Given the description of an element on the screen output the (x, y) to click on. 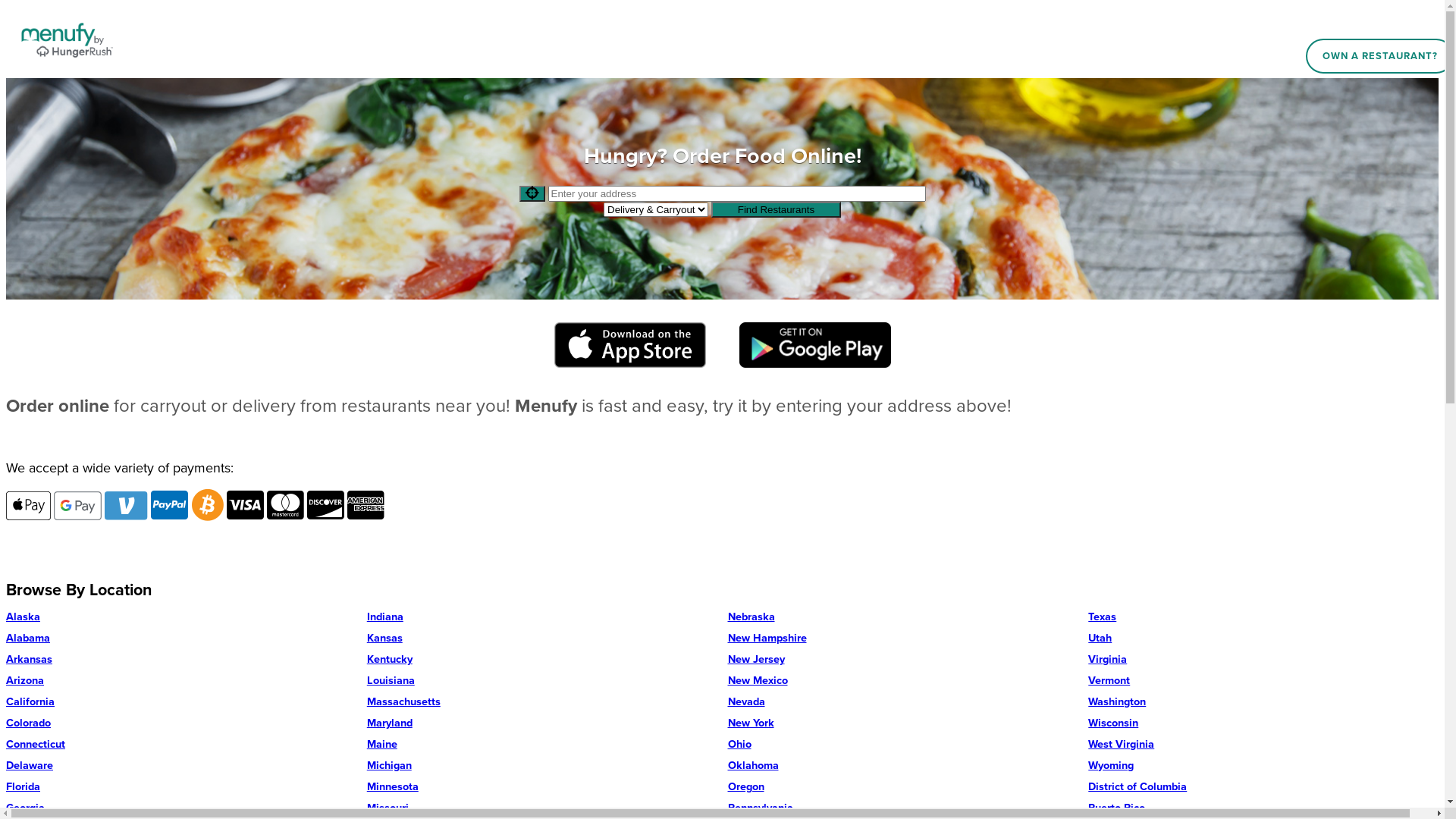
Pennsylvania Element type: text (903, 808)
Wyoming Element type: text (1263, 765)
OWN A RESTAURANT? Element type: text (1379, 55)
District of Columbia Element type: text (1263, 786)
Oregon Element type: text (903, 786)
Nebraska Element type: text (903, 617)
Accepts Apple Pay Element type: hover (28, 505)
Accepts Visa Element type: hover (244, 504)
Oklahoma Element type: text (903, 765)
Kentucky Element type: text (542, 659)
Washington Element type: text (1263, 702)
New York Element type: text (903, 723)
Delaware Element type: text (181, 765)
Arkansas Element type: text (181, 659)
New Jersey Element type: text (903, 659)
Alaska Element type: text (181, 617)
Puerto Rico Element type: text (1263, 808)
Texas Element type: text (1263, 617)
Accepts American Express Element type: hover (365, 504)
Minnesota Element type: text (542, 786)
Indiana Element type: text (542, 617)
Accepts Mastercard Element type: hover (285, 504)
Accepts Venmo Element type: hover (125, 505)
Accepts Google Pay Element type: hover (76, 505)
New Hampshire Element type: text (903, 638)
Louisiana Element type: text (542, 680)
Connecticut Element type: text (181, 744)
Massachusetts Element type: text (542, 702)
Wisconsin Element type: text (1263, 723)
Virginia Element type: text (1263, 659)
Accepts PayPal Element type: hover (169, 504)
Utah Element type: text (1263, 638)
Alabama Element type: text (181, 638)
Arizona Element type: text (181, 680)
Vermont Element type: text (1263, 680)
Colorado Element type: text (181, 723)
Kansas Element type: text (542, 638)
Missouri Element type: text (542, 808)
Find Restaurants Element type: text (775, 209)
New Mexico Element type: text (903, 680)
California Element type: text (181, 702)
West Virginia Element type: text (1263, 744)
Maryland Element type: text (542, 723)
Ohio Element type: text (903, 744)
Michigan Element type: text (542, 765)
Accepts Discover Element type: hover (325, 504)
Florida Element type: text (181, 786)
Nevada Element type: text (903, 702)
Georgia Element type: text (181, 808)
Maine Element type: text (542, 744)
